Given the description of an element on the screen output the (x, y) to click on. 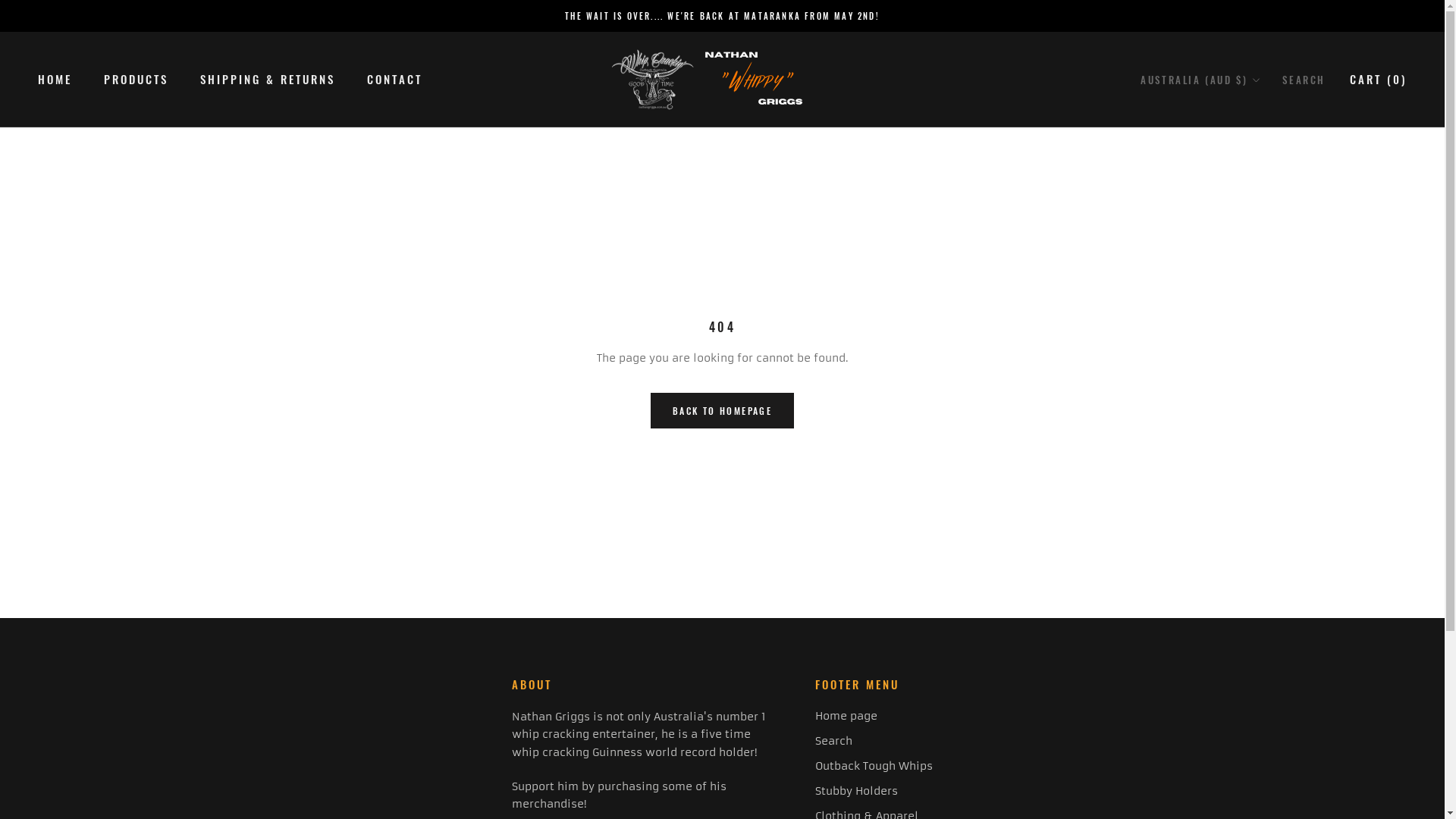
SHIPPING & RETURNS
SHIPPING & RETURNS Element type: text (267, 78)
SE Element type: text (1261, 662)
JP Element type: text (1261, 424)
IE Element type: text (1261, 353)
MY Element type: text (1261, 448)
IL Element type: text (1261, 377)
US Element type: text (1261, 758)
Stubby Holders Element type: text (873, 791)
KR Element type: text (1261, 615)
DE Element type: text (1261, 305)
GB Element type: text (1261, 734)
AUSTRALIA (AUD $) Element type: text (1200, 79)
NZ Element type: text (1261, 496)
Outback Tough Whips Element type: text (873, 766)
CART (0) Element type: text (1377, 78)
FR Element type: text (1261, 281)
NO Element type: text (1261, 520)
SEARCH Element type: text (1303, 79)
FI Element type: text (1261, 257)
BACK TO HOMEPAGE Element type: text (721, 410)
SG Element type: text (1261, 591)
AE Element type: text (1261, 710)
IT Element type: text (1261, 401)
AT Element type: text (1261, 138)
DK Element type: text (1261, 234)
BE Element type: text (1261, 162)
PRODUCTS Element type: text (135, 78)
CH Element type: text (1261, 687)
HK Element type: text (1261, 329)
NL Element type: text (1261, 472)
PT Element type: text (1261, 568)
CZ Element type: text (1261, 210)
Search Element type: text (873, 741)
CONTACT
CONTACT Element type: text (394, 78)
Home page Element type: text (873, 716)
THE WAIT IS OVER.... WE'RE BACK AT MATARANKA FROM MAY 2ND! Element type: text (721, 15)
ES Element type: text (1261, 639)
HOME
HOME Element type: text (54, 78)
PL Element type: text (1261, 543)
CA Element type: text (1261, 186)
AU Element type: text (1261, 114)
